Given the description of an element on the screen output the (x, y) to click on. 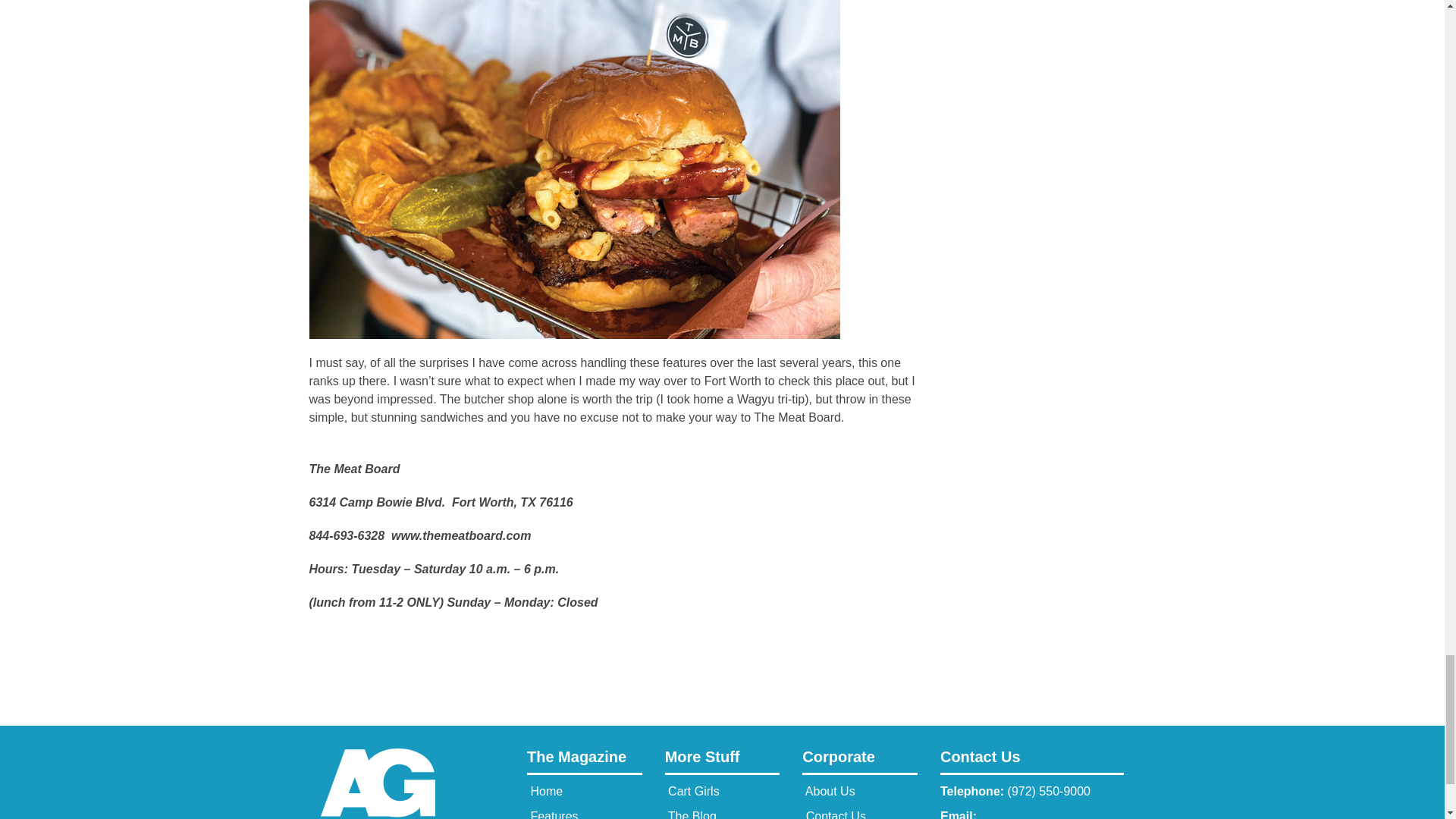
 Home (544, 790)
 Cart Girls (692, 790)
 The Blog (690, 814)
 Features (552, 814)
The Magazine (584, 761)
